Given the description of an element on the screen output the (x, y) to click on. 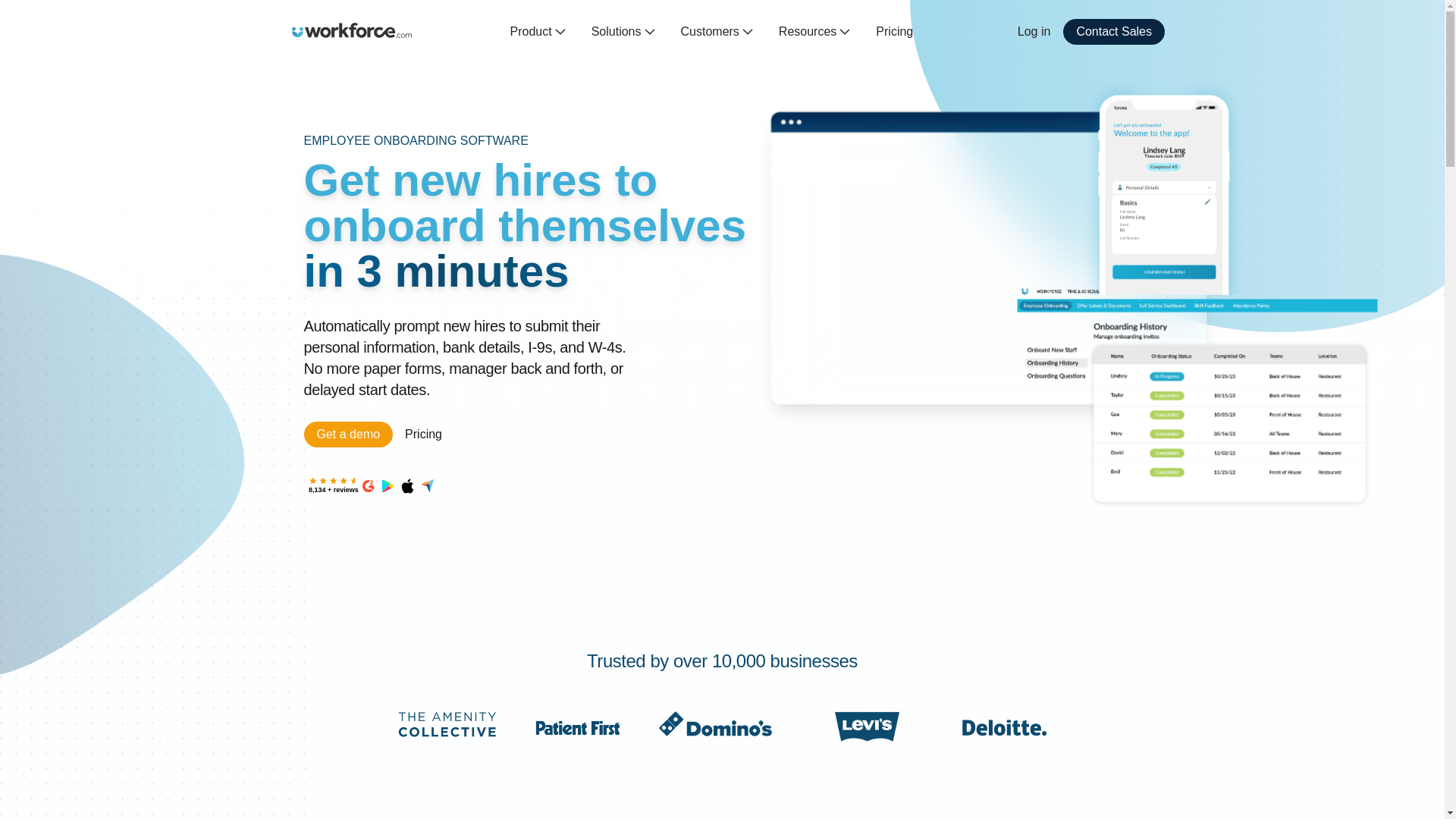
Product (539, 31)
Workforce.com (351, 29)
Solutions (623, 31)
